Given the description of an element on the screen output the (x, y) to click on. 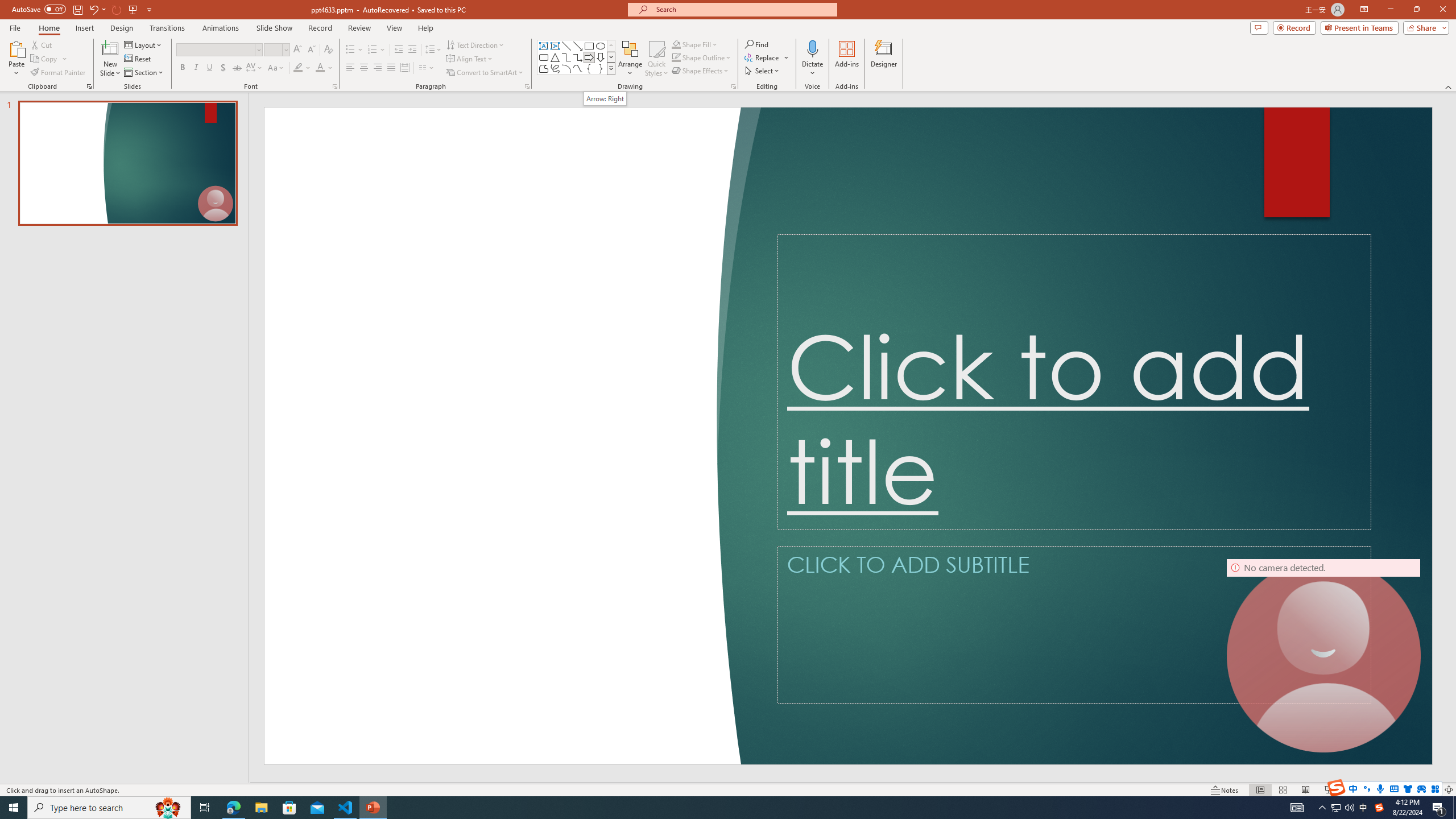
Select (762, 69)
Change Case (276, 67)
Shape Outline Dark Red, Accent 1 (675, 56)
Shape Effects (700, 69)
Curve (577, 68)
Zoom 161% (1430, 790)
Align Left (349, 67)
